Given the description of an element on the screen output the (x, y) to click on. 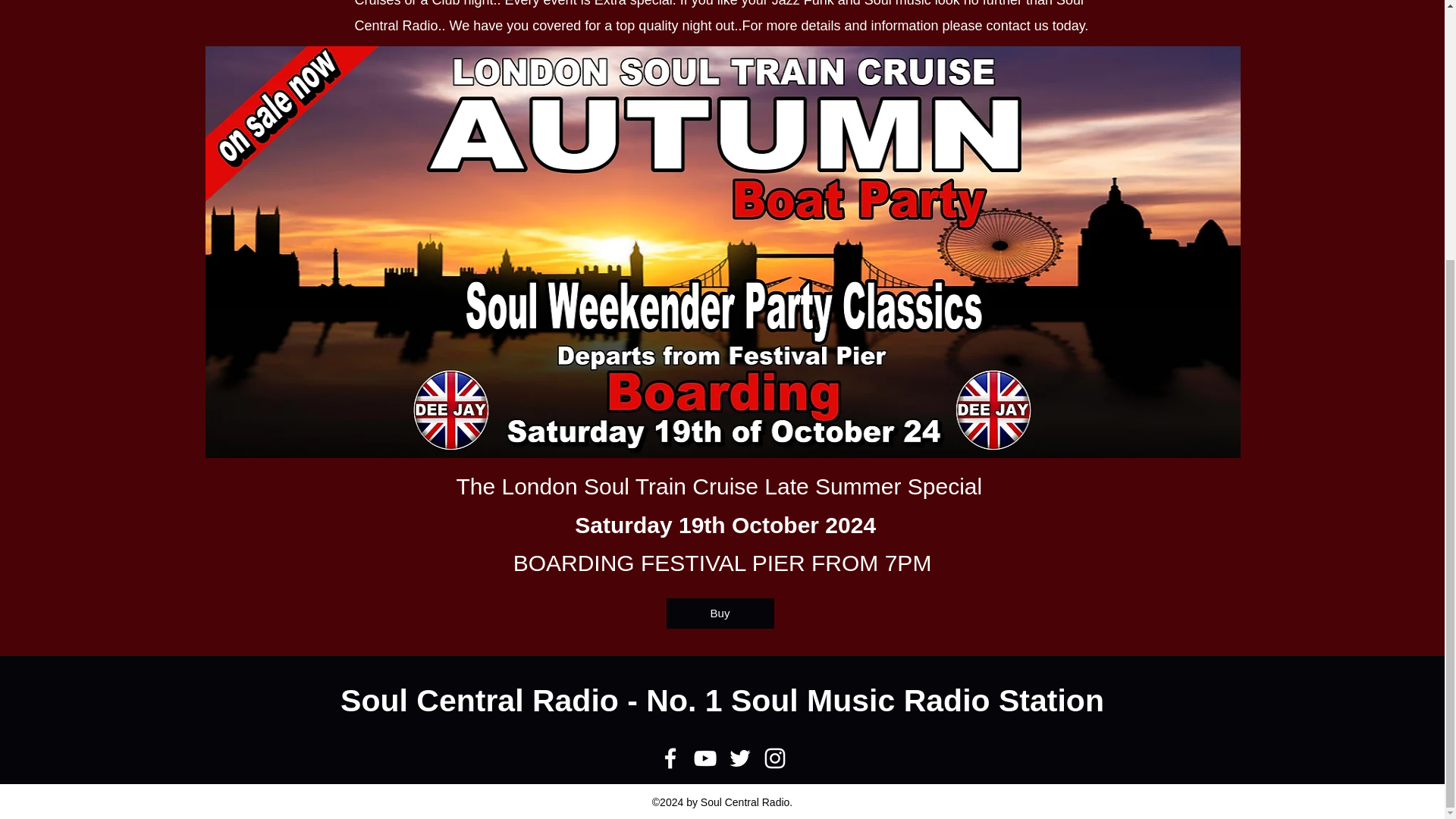
Buy (719, 613)
Soul Central Radio - No. 1 Soul Music Radio Station (721, 700)
